Given the description of an element on the screen output the (x, y) to click on. 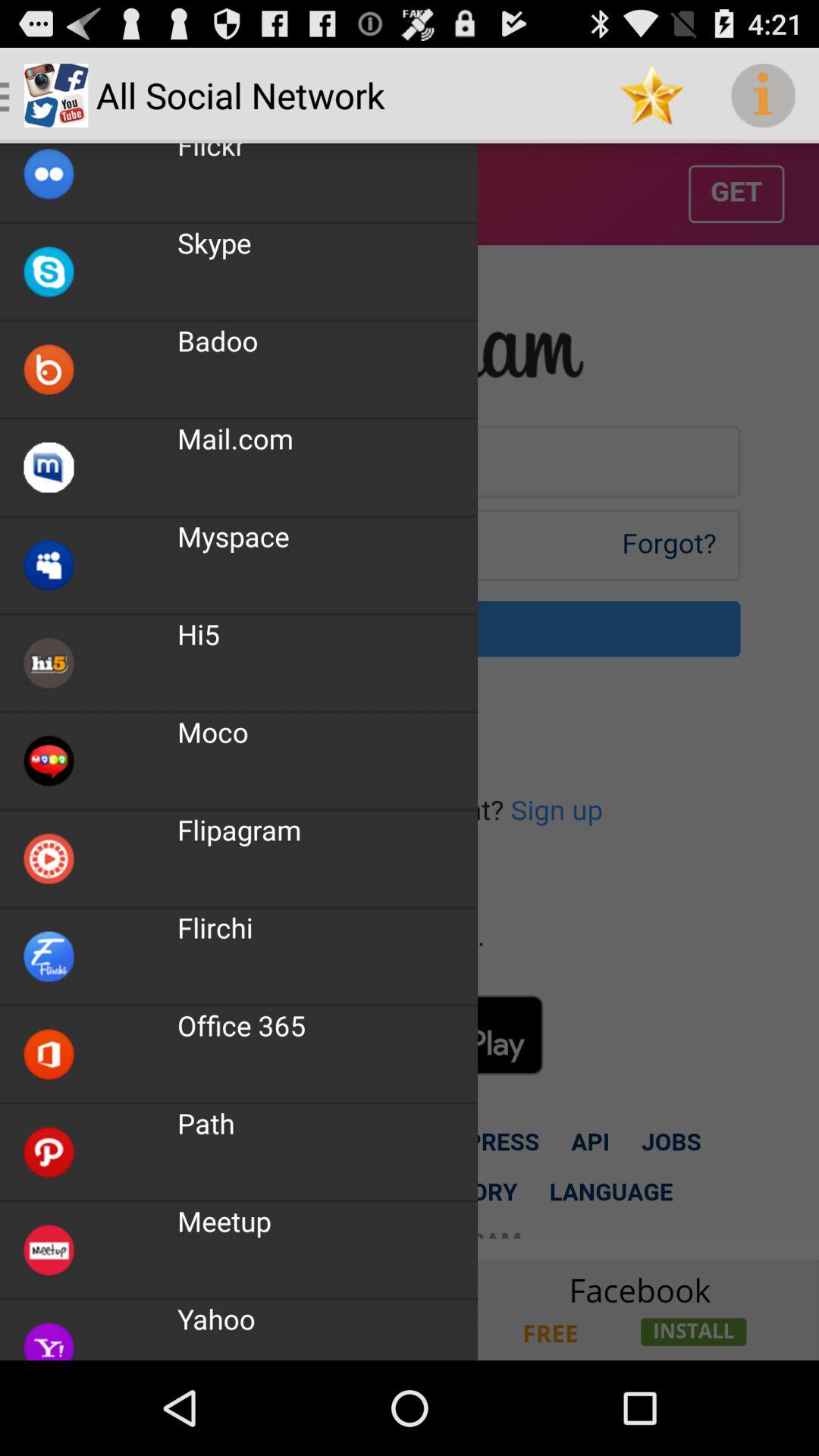
turn on item below flipagram item (214, 927)
